Given the description of an element on the screen output the (x, y) to click on. 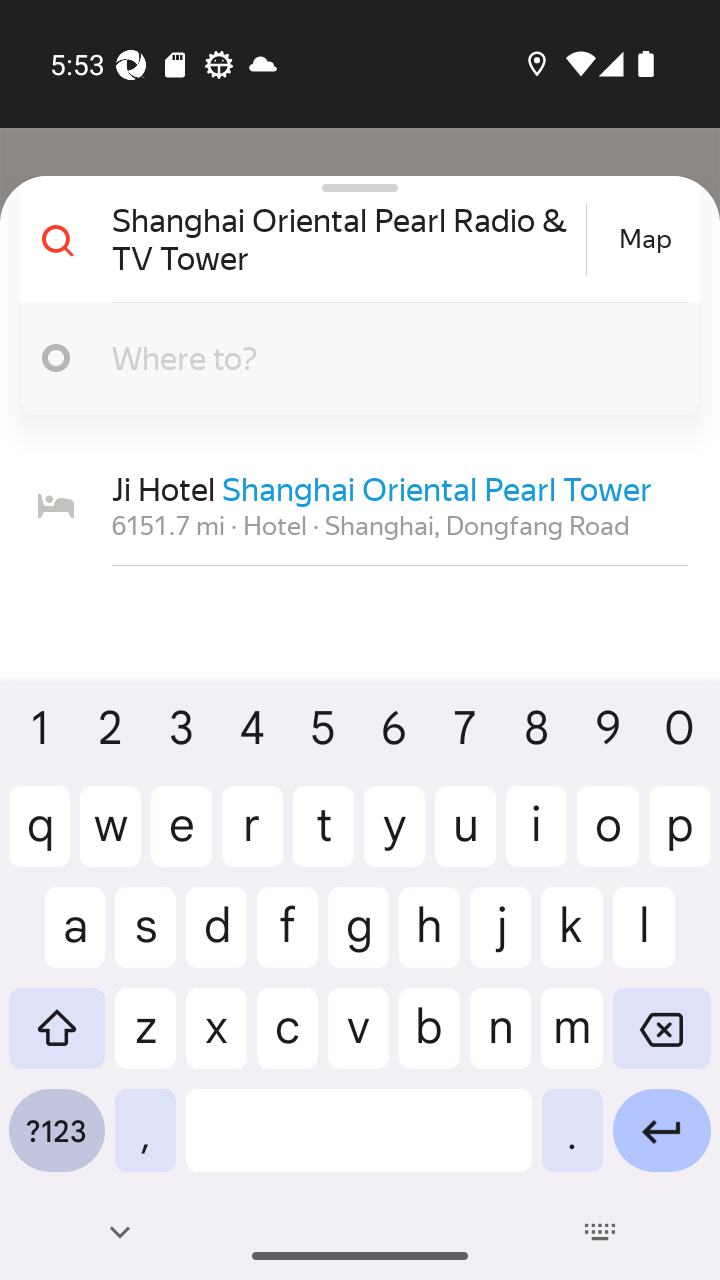
Shanghai Oriental Pearl Radio & TV Tower Map Map (352, 239)
Map (645, 239)
Shanghai Oriental Pearl Radio & TV Tower (346, 238)
Where to? (352, 357)
Where to? (373, 357)
